Given the description of an element on the screen output the (x, y) to click on. 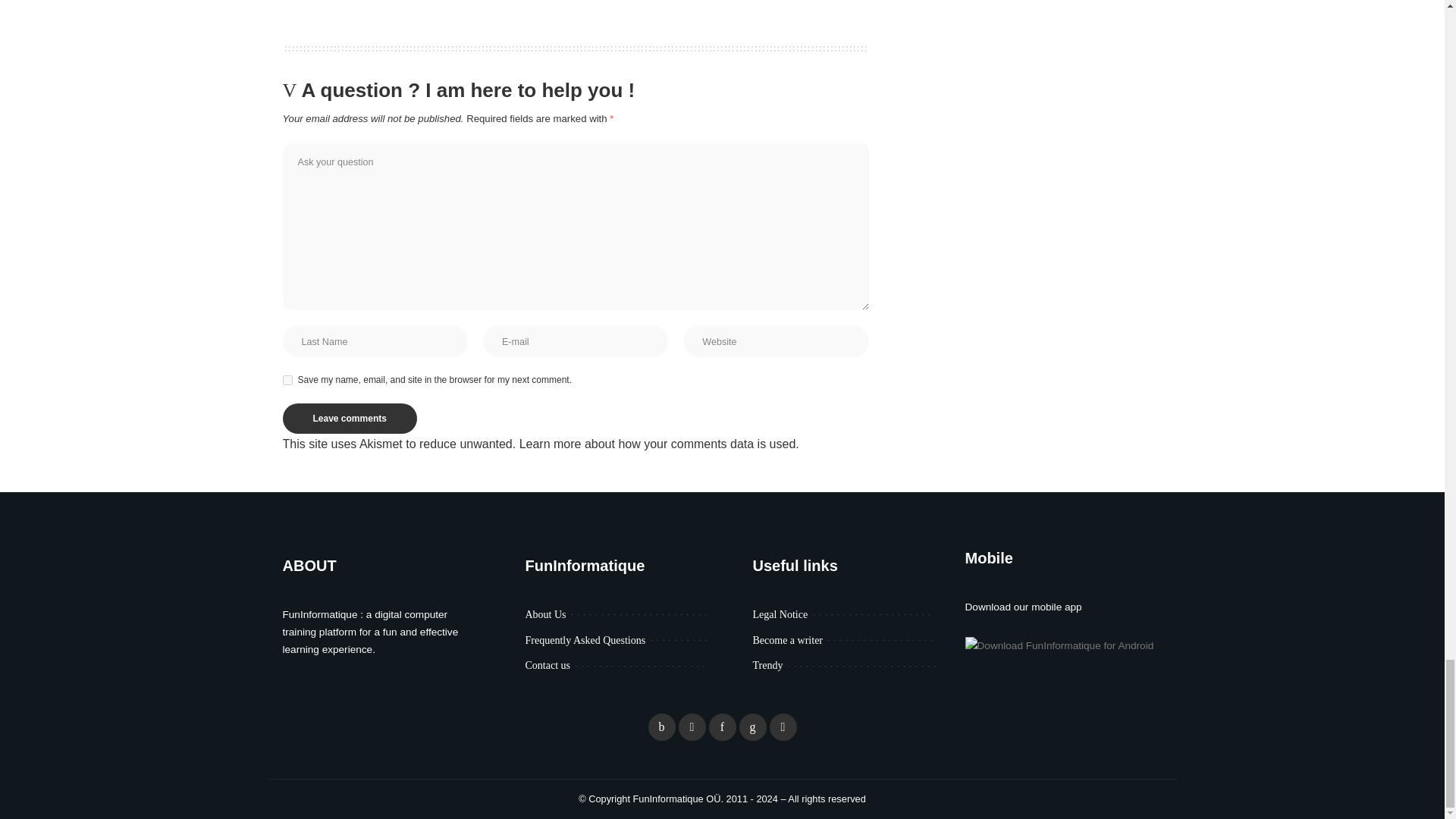
Facebook (661, 727)
Pinterest (721, 727)
yes (287, 379)
LinkedIn (751, 727)
Twitter (691, 727)
Leave comments (349, 418)
YouTube (782, 727)
